Given the description of an element on the screen output the (x, y) to click on. 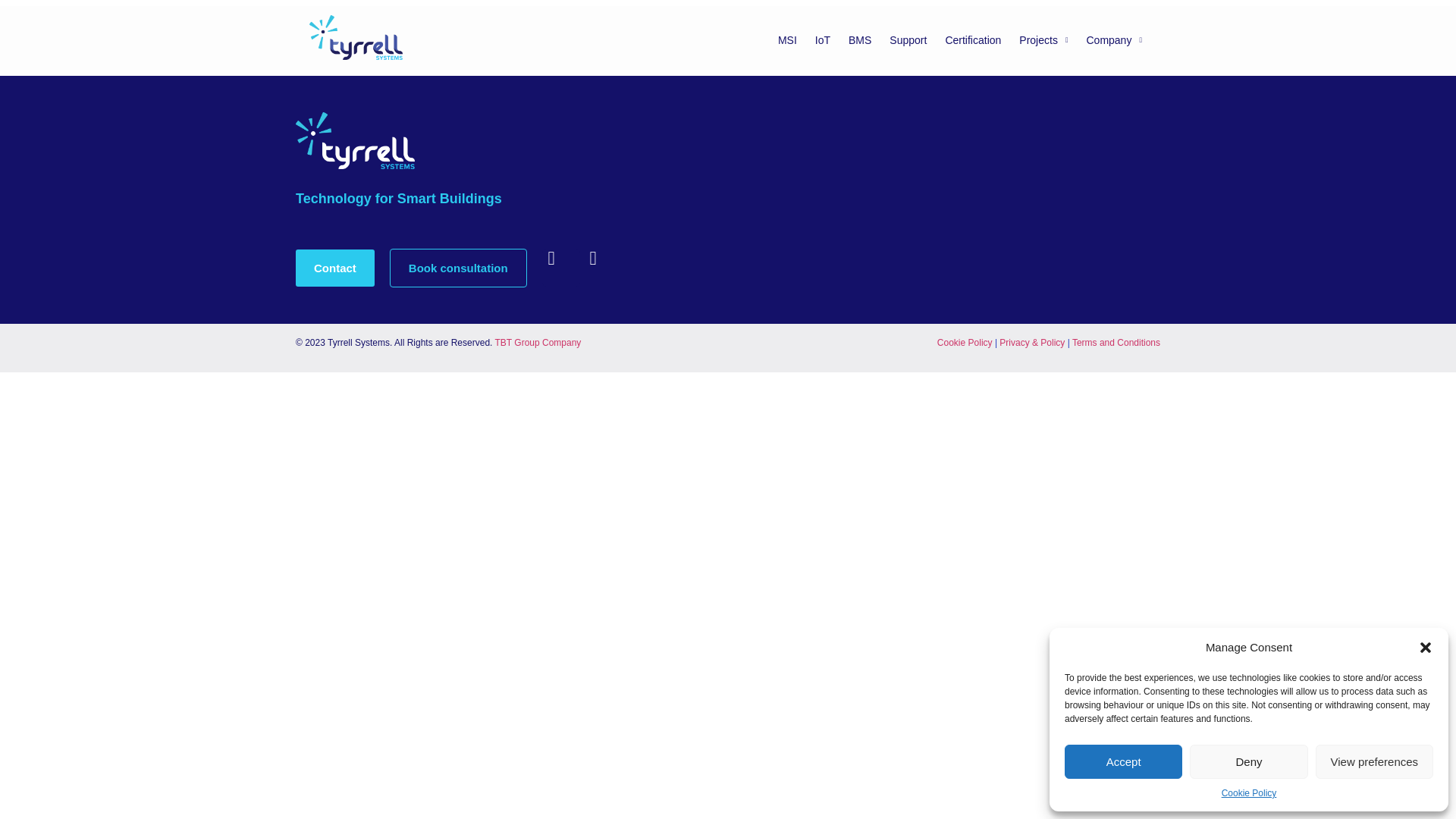
Projects (1043, 39)
Certification (973, 39)
MSI (787, 39)
Support (908, 39)
BMS (860, 39)
Company (1114, 39)
